Given the description of an element on the screen output the (x, y) to click on. 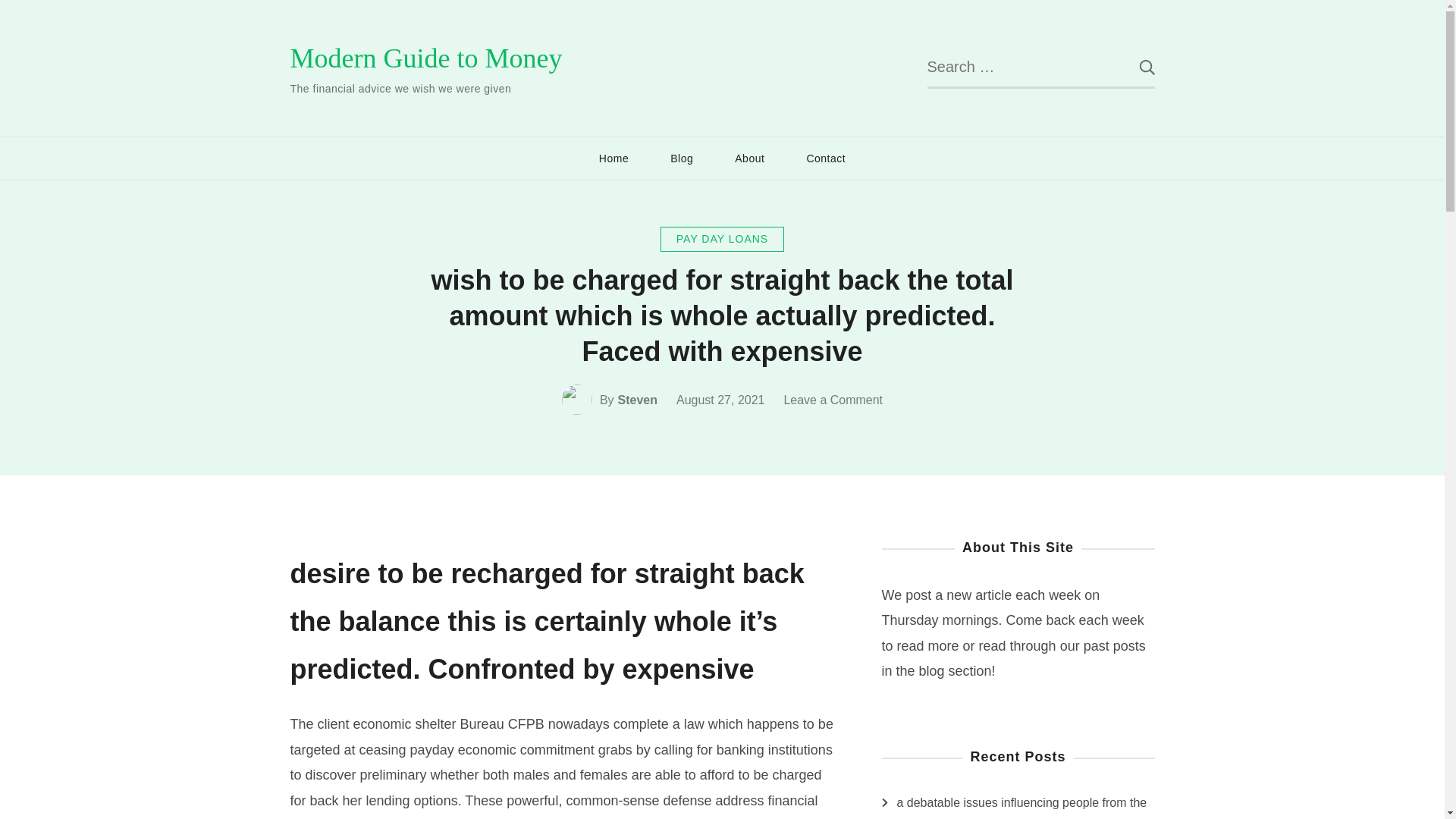
Home (613, 158)
PAY DAY LOANS (722, 238)
Contact (825, 158)
Steven (637, 400)
Search (1135, 67)
Modern Guide to Money (425, 58)
Search (1135, 67)
About (749, 158)
Blog (680, 158)
